Given the description of an element on the screen output the (x, y) to click on. 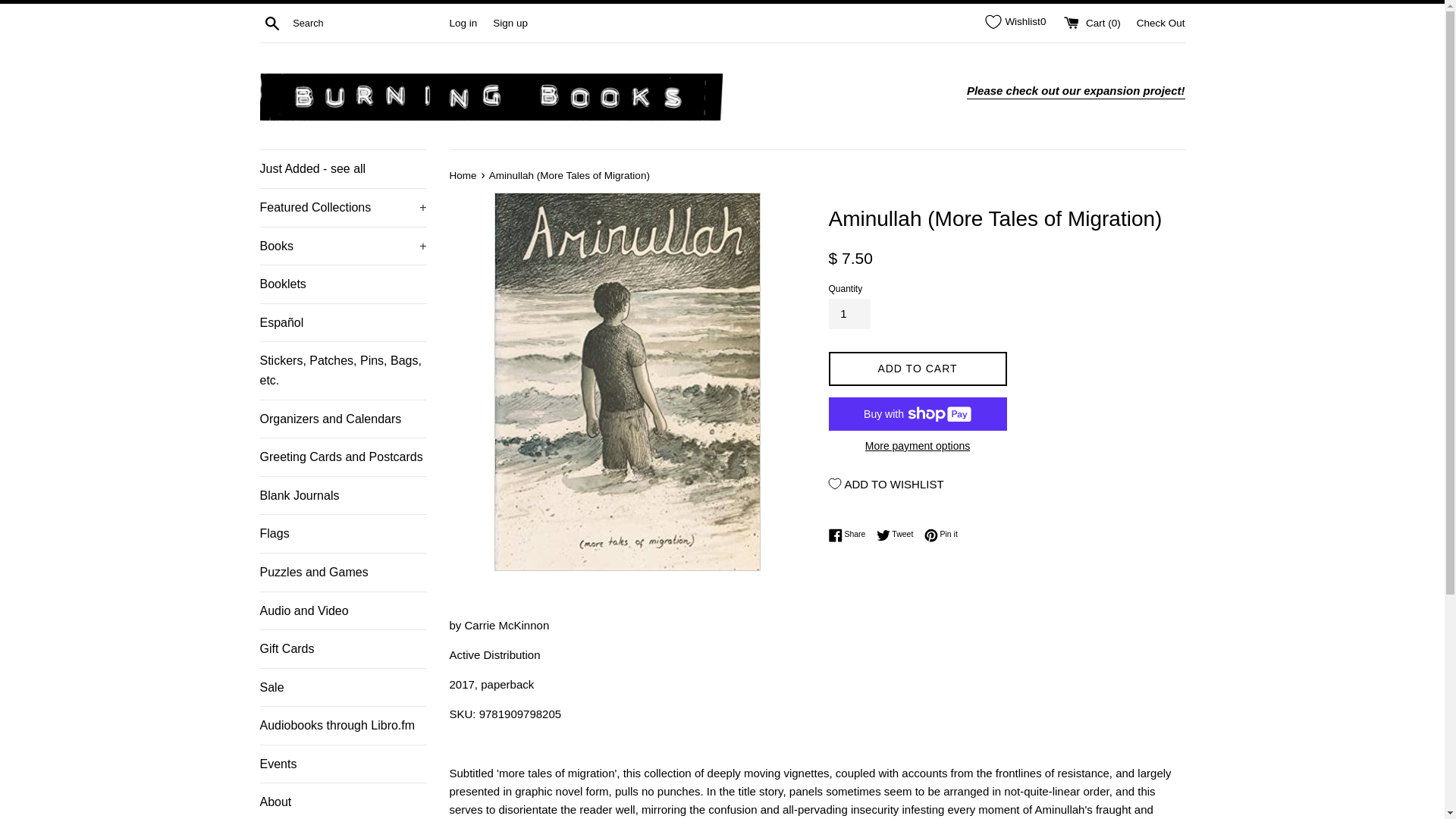
View Wishlist (1015, 21)
Booklets (342, 284)
Check Out (1161, 21)
Just Added - see all (342, 168)
Add to Wishlist (885, 483)
Share on Facebook (850, 534)
Tweet on Twitter (898, 534)
Please check out our expansion project! (1075, 91)
Pin on Pinterest (941, 534)
Sign up (510, 21)
